Given the description of an element on the screen output the (x, y) to click on. 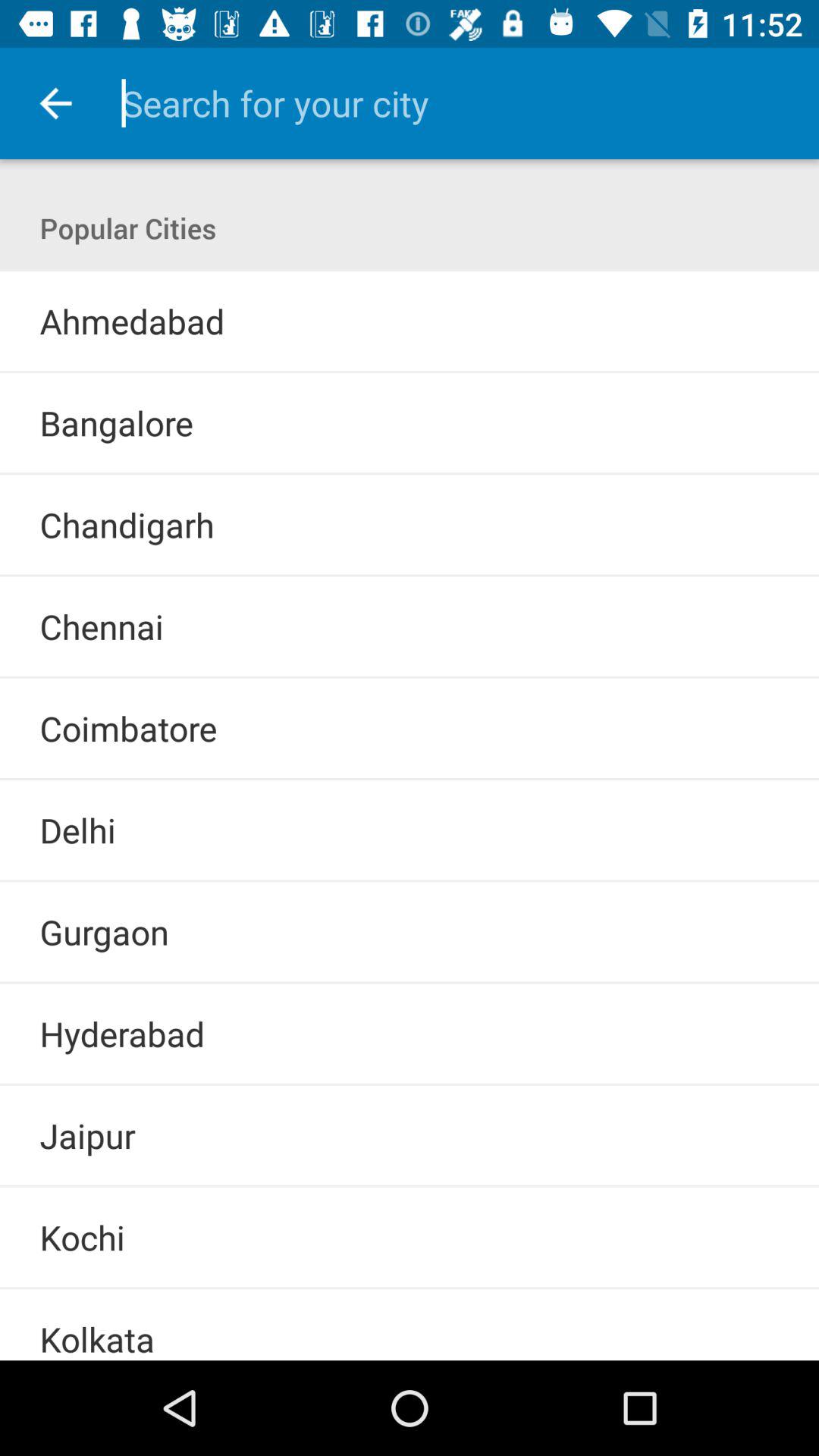
flip to the hyderabad icon (121, 1033)
